Given the description of an element on the screen output the (x, y) to click on. 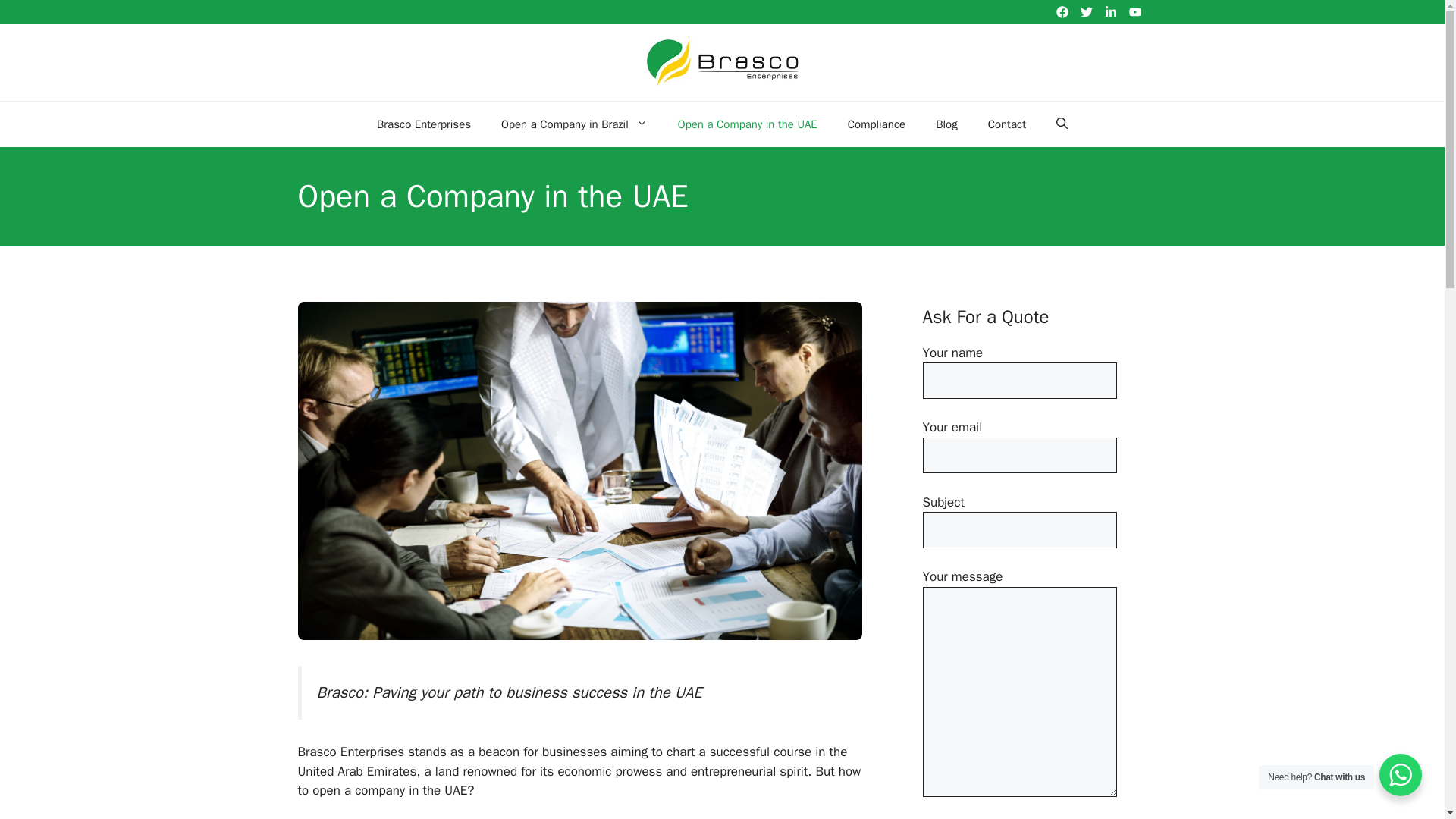
Brasco Enterprises (423, 124)
Compliance (876, 124)
Blog (946, 124)
Open a Company in Brazil (574, 124)
Open a Company in the UAE (747, 124)
Contact (1006, 124)
